Given the description of an element on the screen output the (x, y) to click on. 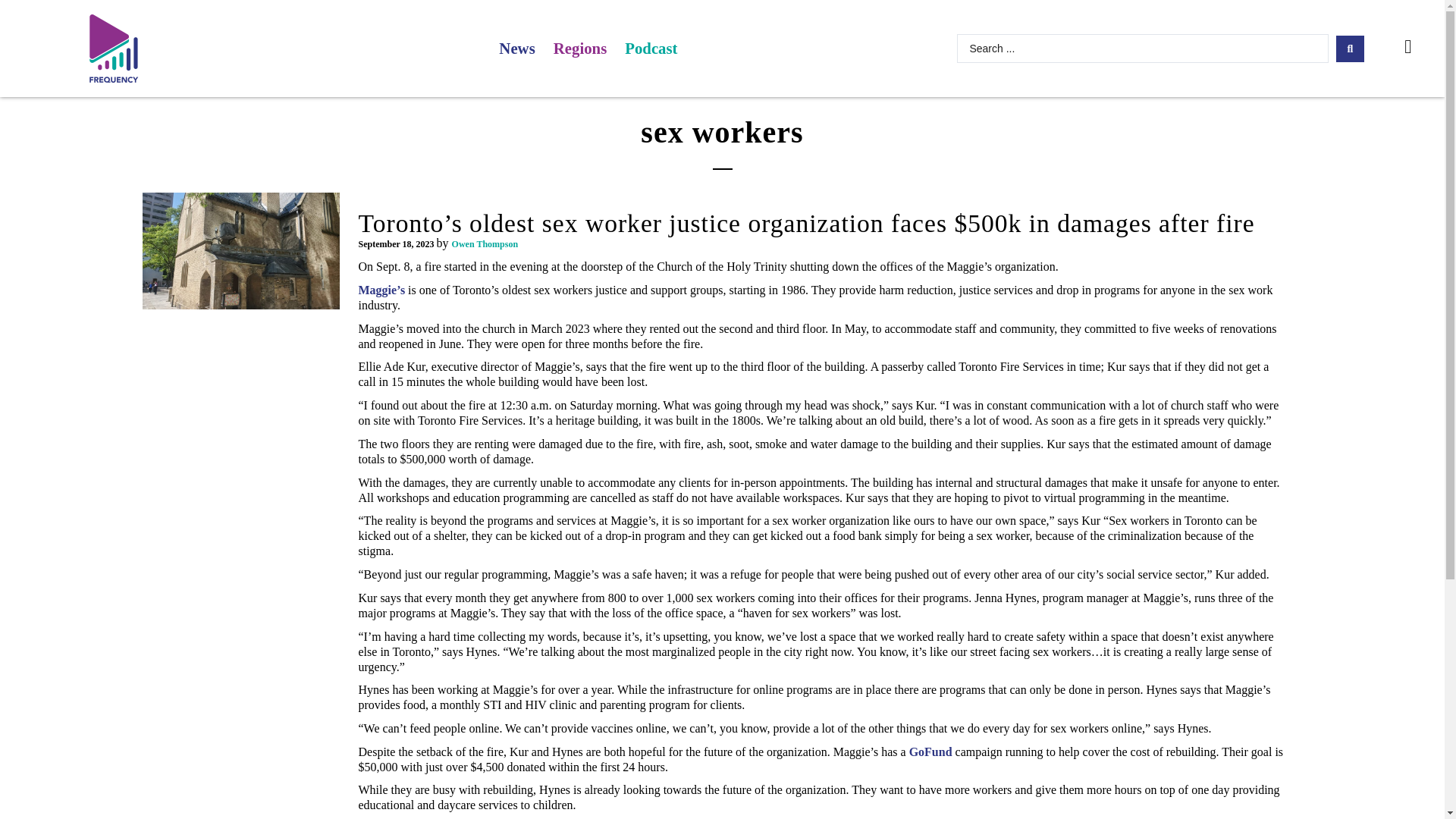
News (516, 48)
Regions (580, 48)
